Given the description of an element on the screen output the (x, y) to click on. 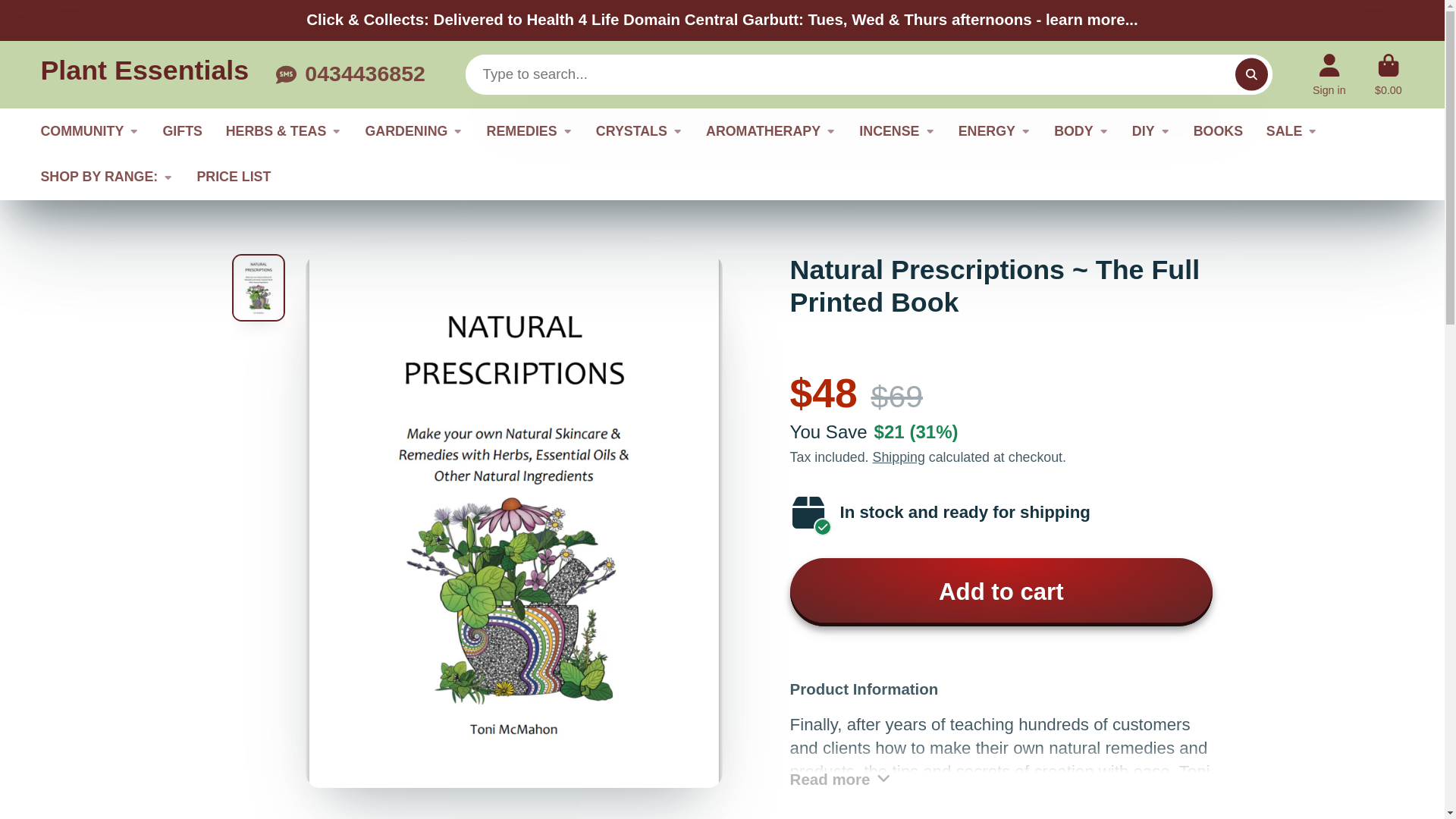
GARDENING (414, 131)
Logo (144, 73)
CRYSTALS (638, 131)
REMEDIES (529, 131)
0434436852 (350, 74)
COMMUNITY (89, 131)
